Given the description of an element on the screen output the (x, y) to click on. 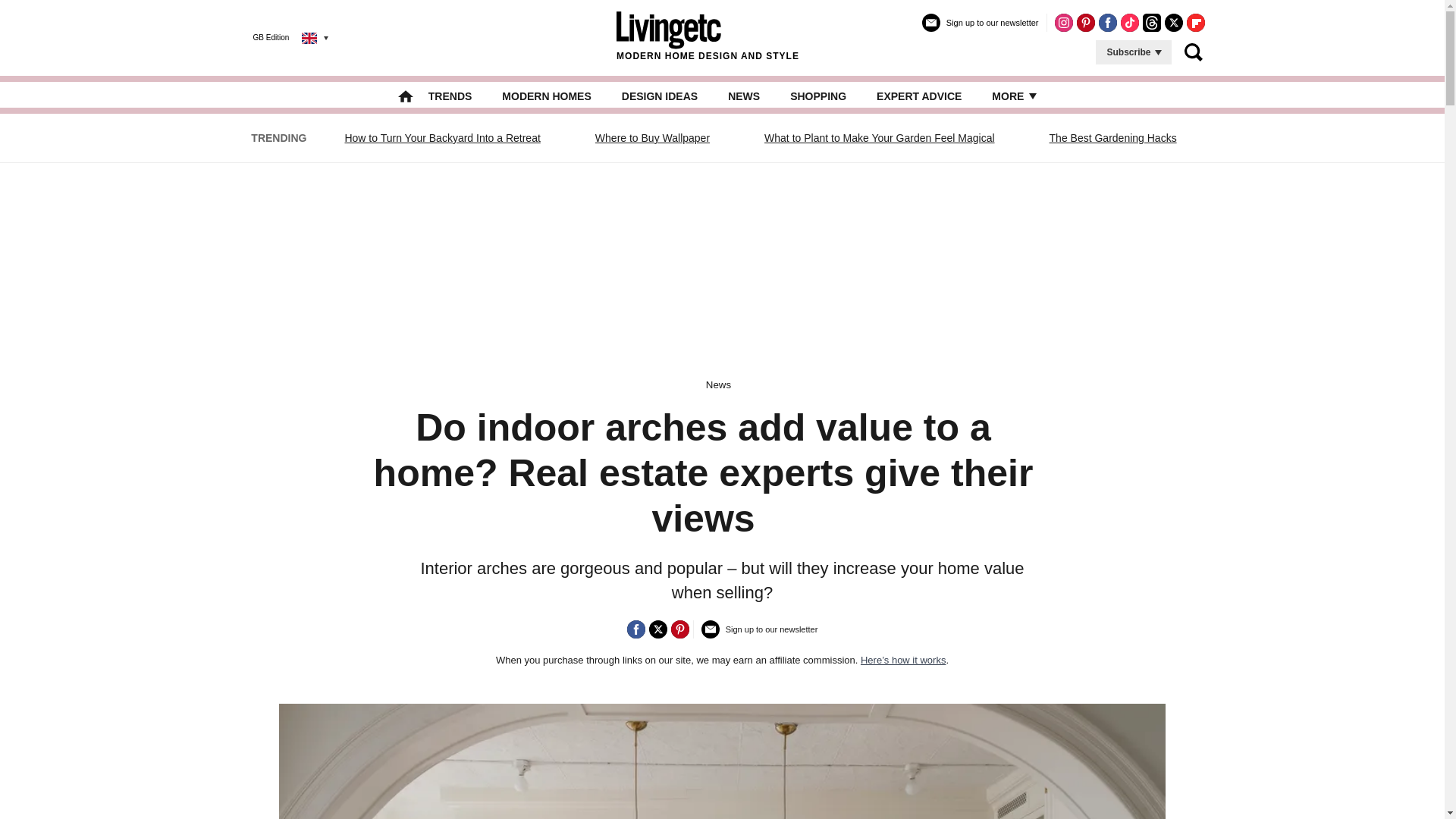
MODERN HOMES (546, 96)
Sign up to our newsletter (980, 28)
SHOPPING (817, 96)
NEWS (744, 96)
MODERN HOME DESIGN AND STYLE (707, 37)
EXPERT ADVICE (918, 96)
TRENDS (449, 96)
DESIGN IDEAS (659, 96)
Where to Buy Wallpaper (651, 137)
What to Plant to Make Your Garden Feel Magical (879, 137)
The Best Gardening Hacks (1112, 137)
Sign up to our newsletter (759, 634)
GB Edition (279, 37)
News (718, 384)
How to Turn Your Backyard Into a Retreat (441, 137)
